Given the description of an element on the screen output the (x, y) to click on. 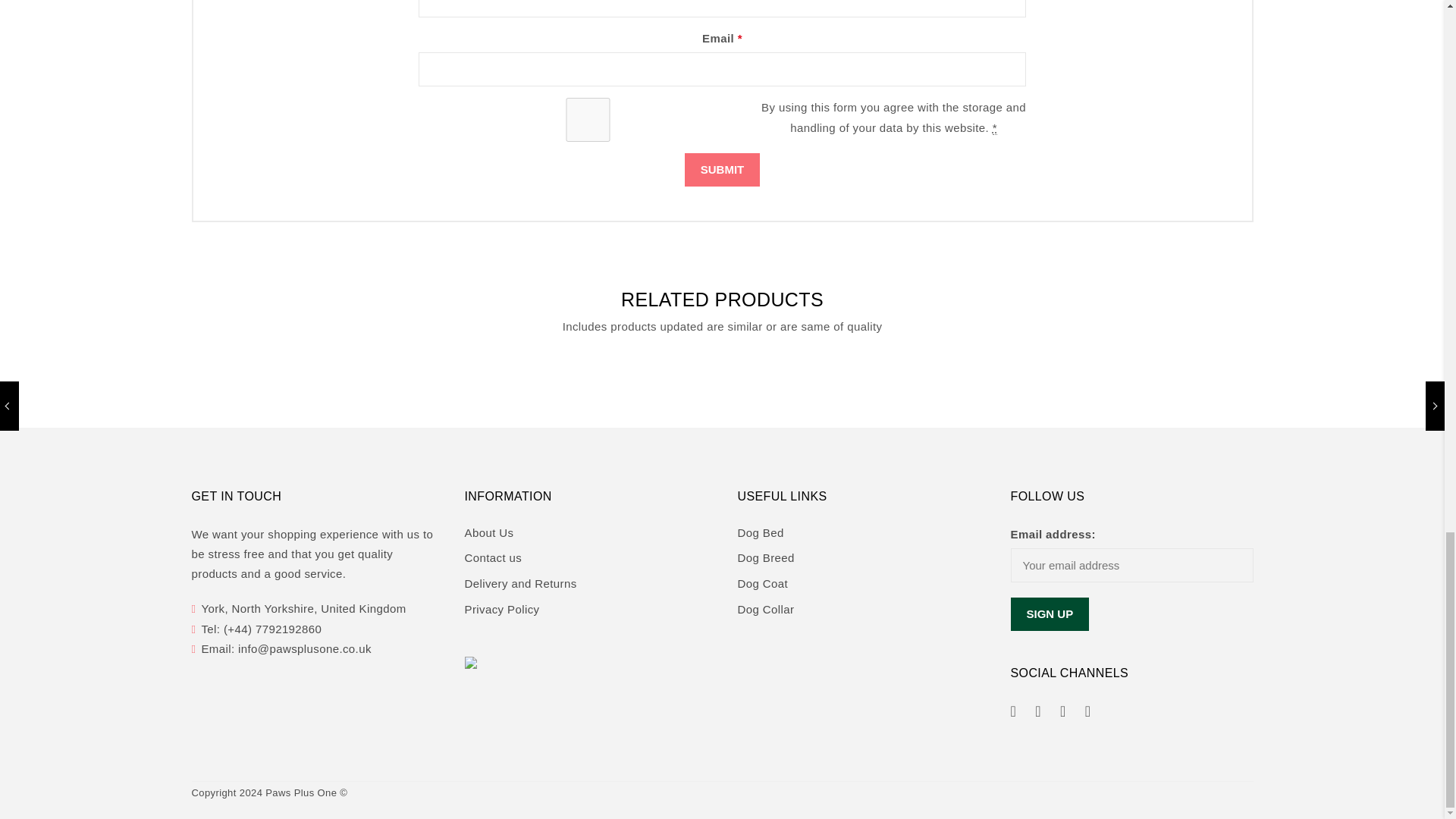
1 (588, 119)
Sign up (1049, 613)
Submit (722, 169)
Customer reviews powered by Trustpilot (857, 671)
